Given the description of an element on the screen output the (x, y) to click on. 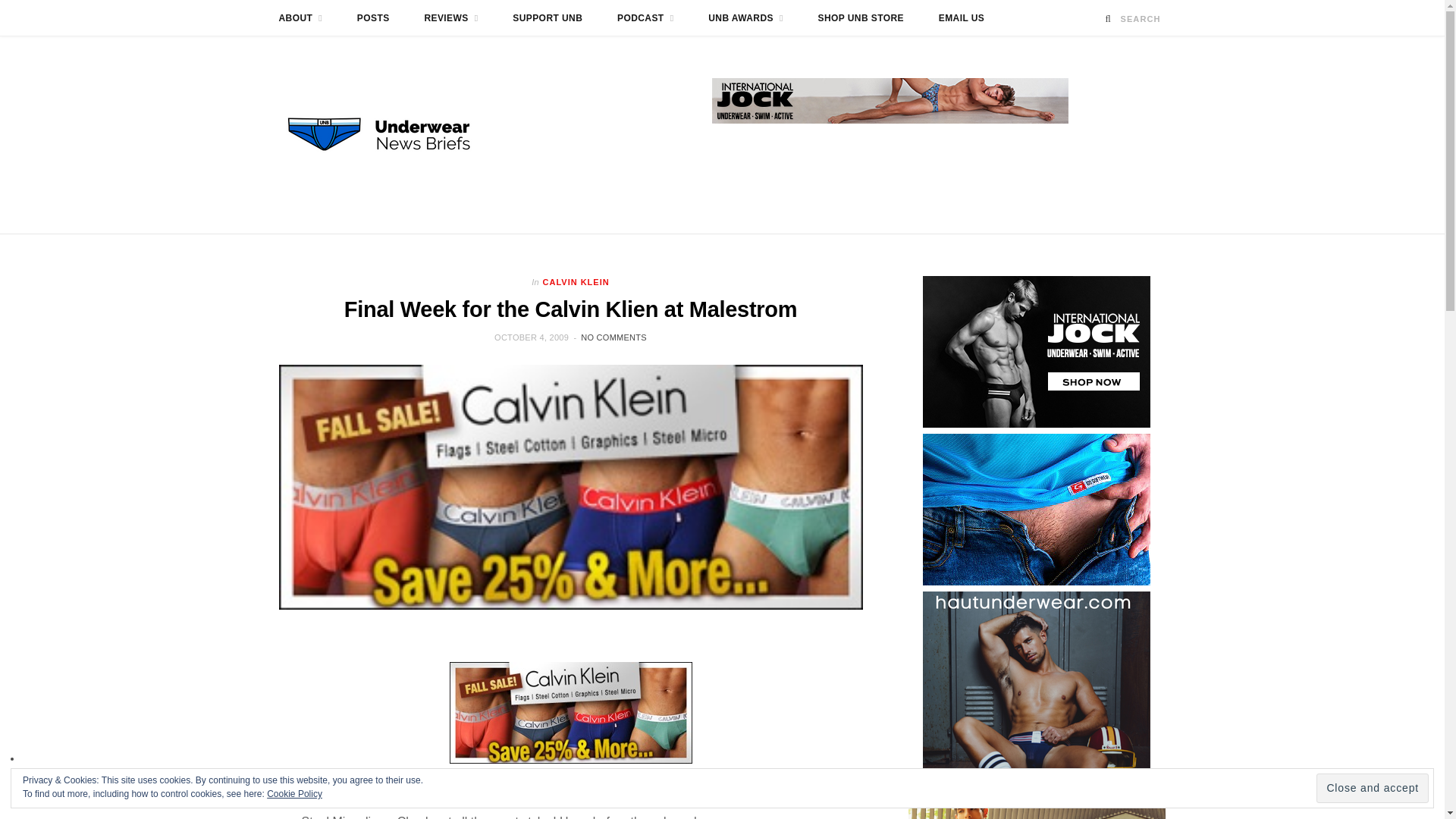
POSTS (373, 18)
EMAIL US (961, 18)
SHOP UNB STORE (861, 18)
PODCAST (644, 18)
ABOUT (299, 18)
-2 (569, 712)
SUPPORT UNB (547, 18)
REVIEWS (450, 18)
Underwear News Briefs (392, 134)
Close and accept (1372, 788)
UNB AWARDS (746, 18)
